Given the description of an element on the screen output the (x, y) to click on. 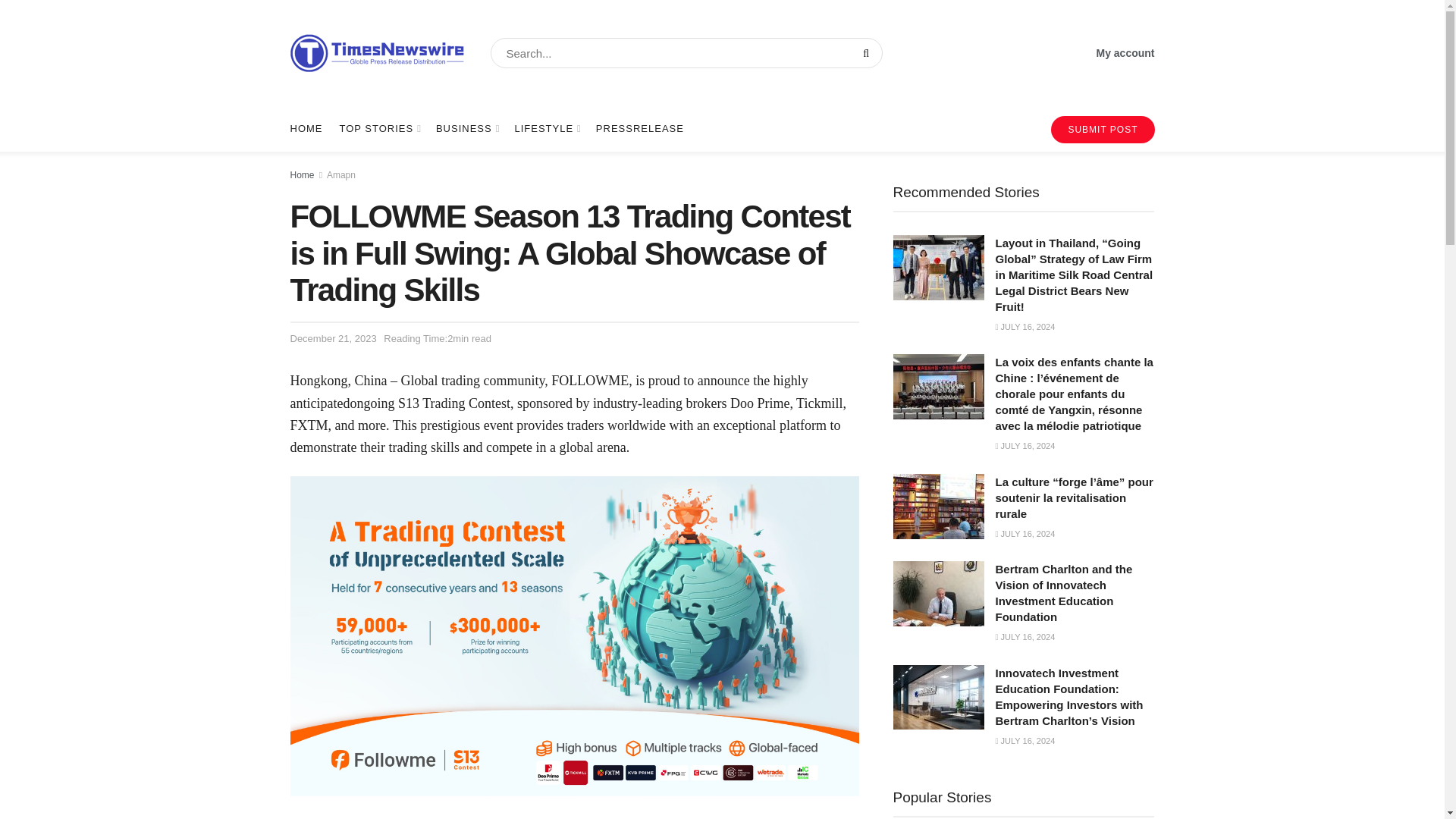
BUSINESS (466, 128)
SUBMIT POST (1102, 129)
LIFESTYLE (545, 128)
PRESSRELEASE (639, 128)
TOP STORIES (379, 128)
My account (1125, 53)
